Given the description of an element on the screen output the (x, y) to click on. 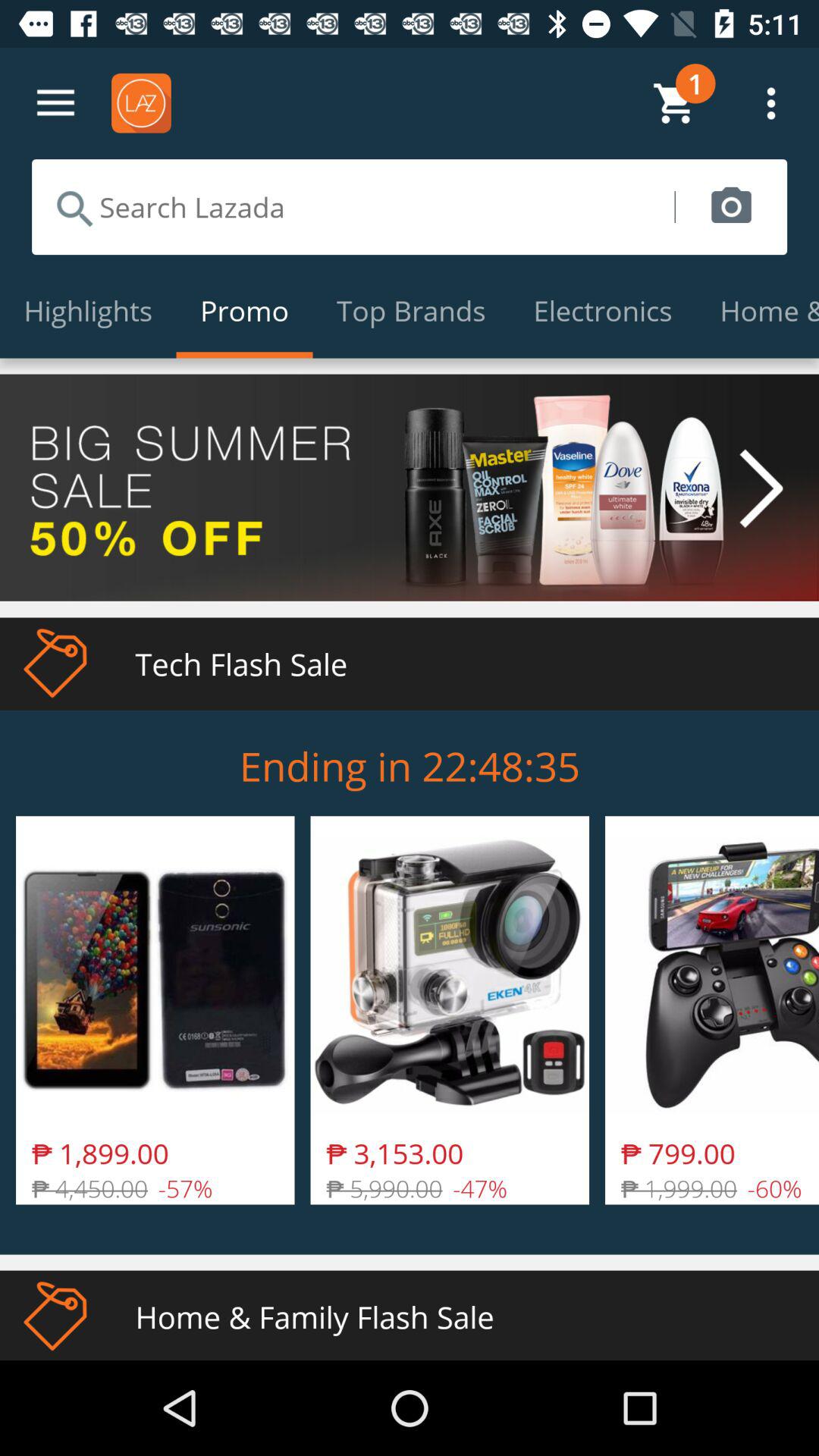
search lazada (352, 206)
